Given the description of an element on the screen output the (x, y) to click on. 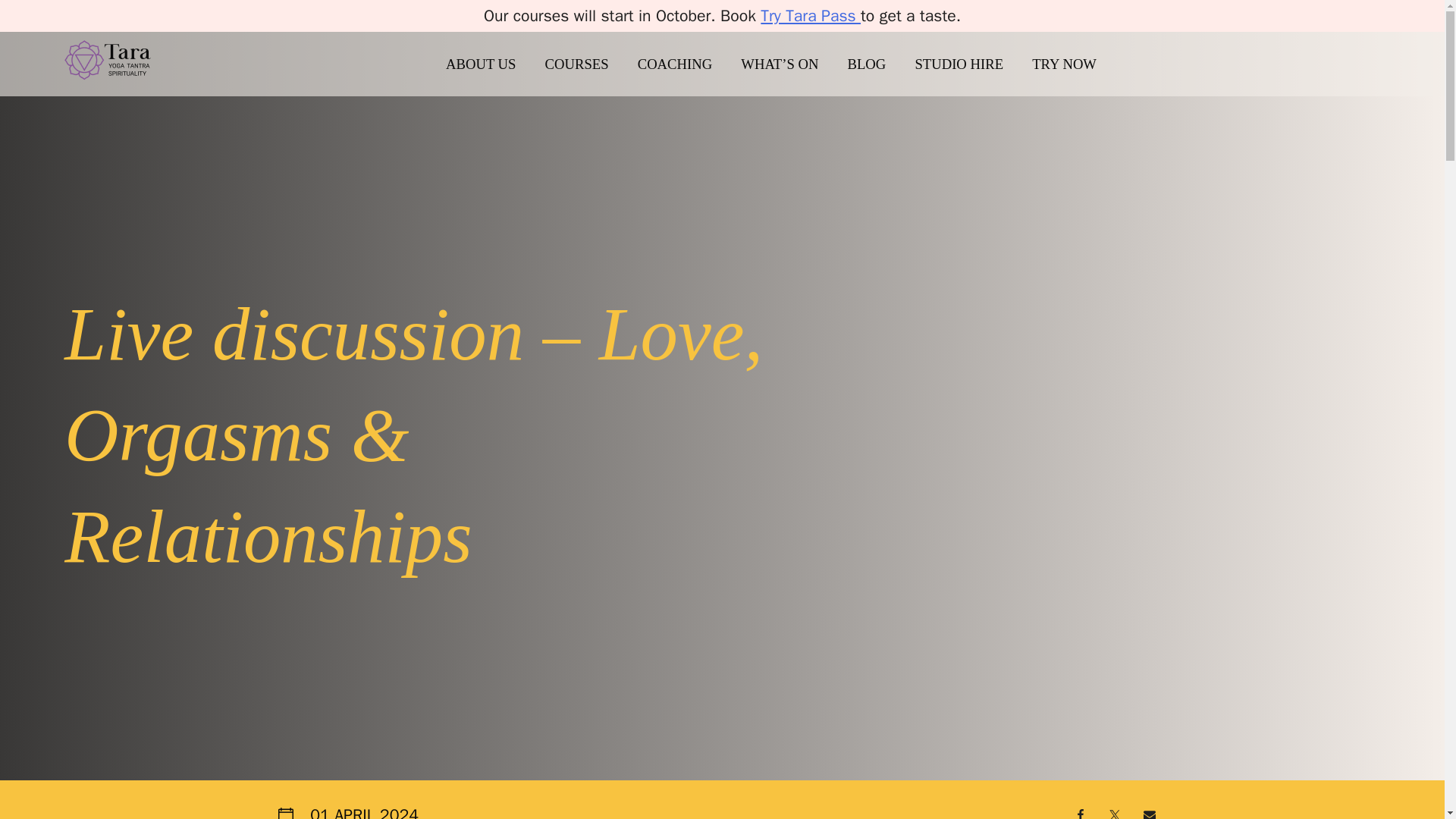
whats-on (792, 64)
TRY NOW (1076, 64)
COACHING (687, 64)
courses (588, 64)
Tara Yoga Centre (125, 100)
Share on Twitter (1114, 811)
BLOG (879, 64)
COURSES (588, 64)
ABOUT US (493, 64)
about-us-menu (493, 64)
